Given the description of an element on the screen output the (x, y) to click on. 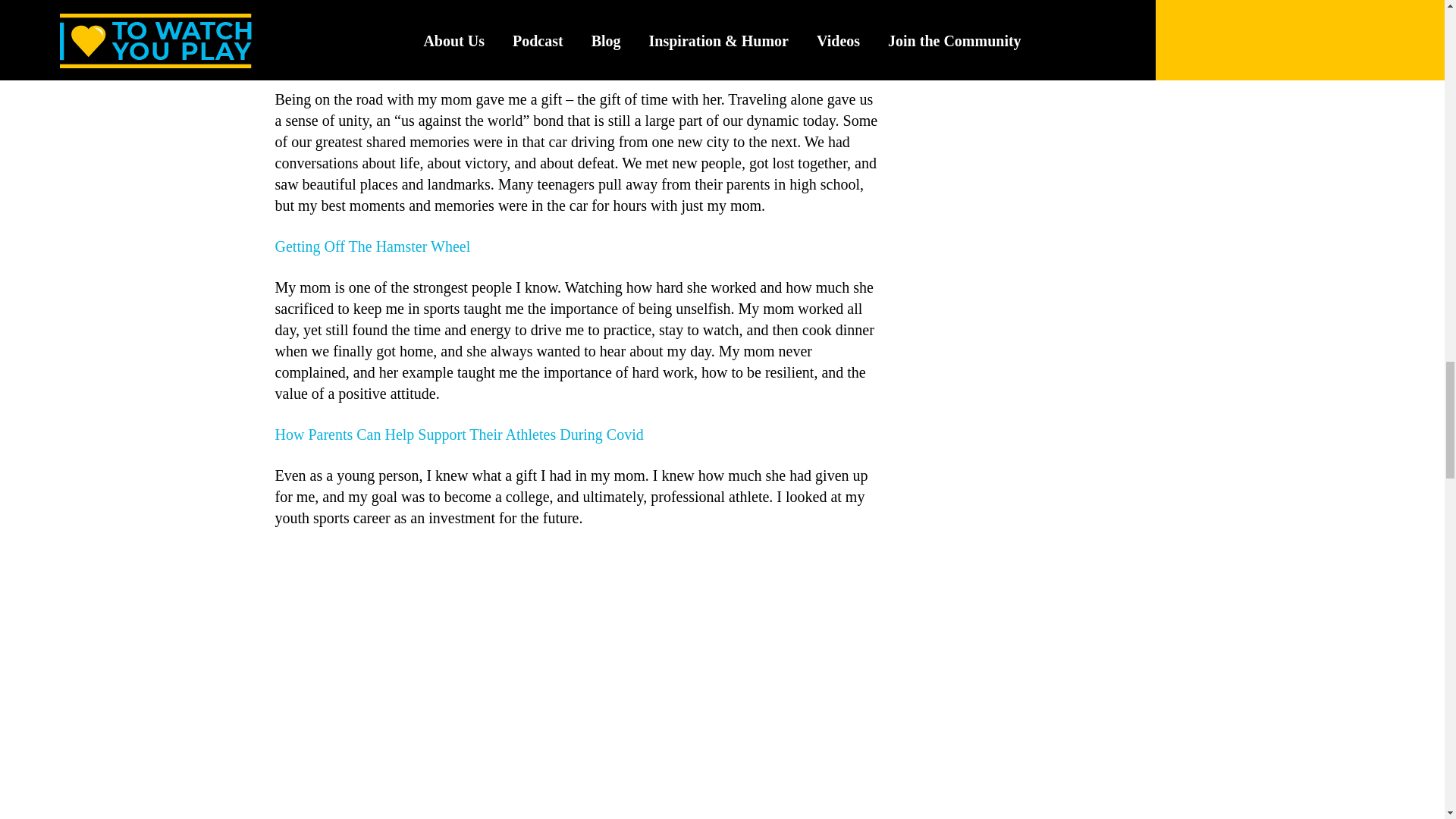
How Parents Can Help Support Their Athletes During Covid (459, 434)
Getting Off The Hamster Wheel (372, 246)
